Given the description of an element on the screen output the (x, y) to click on. 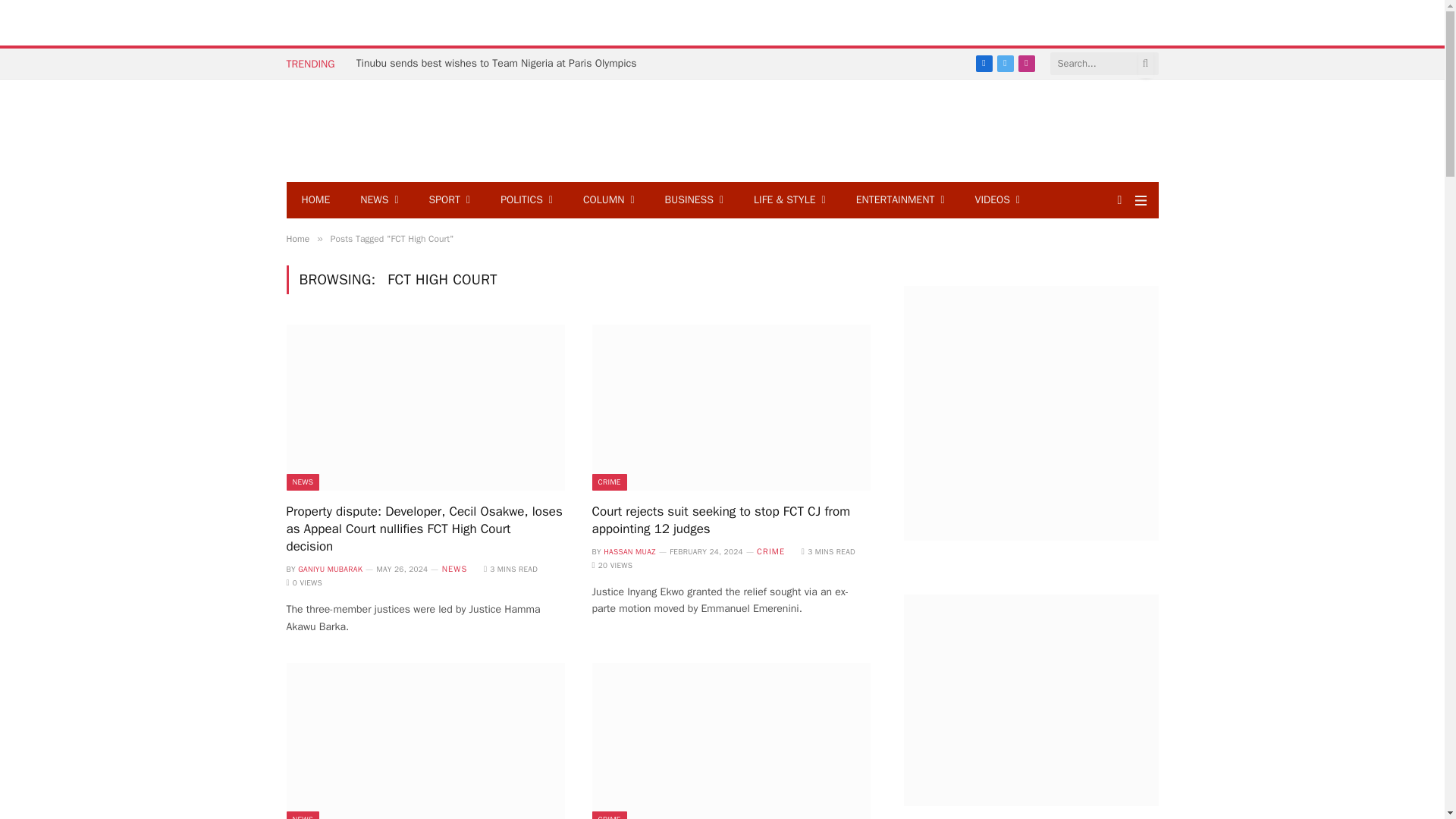
Facebook (983, 63)
HOME (316, 199)
Instagram (1026, 63)
NEWS (379, 199)
Tinubu sends best wishes to Team Nigeria at Paris Olympics (500, 63)
The Eagle Online (377, 130)
Twitter (1005, 63)
